Given the description of an element on the screen output the (x, y) to click on. 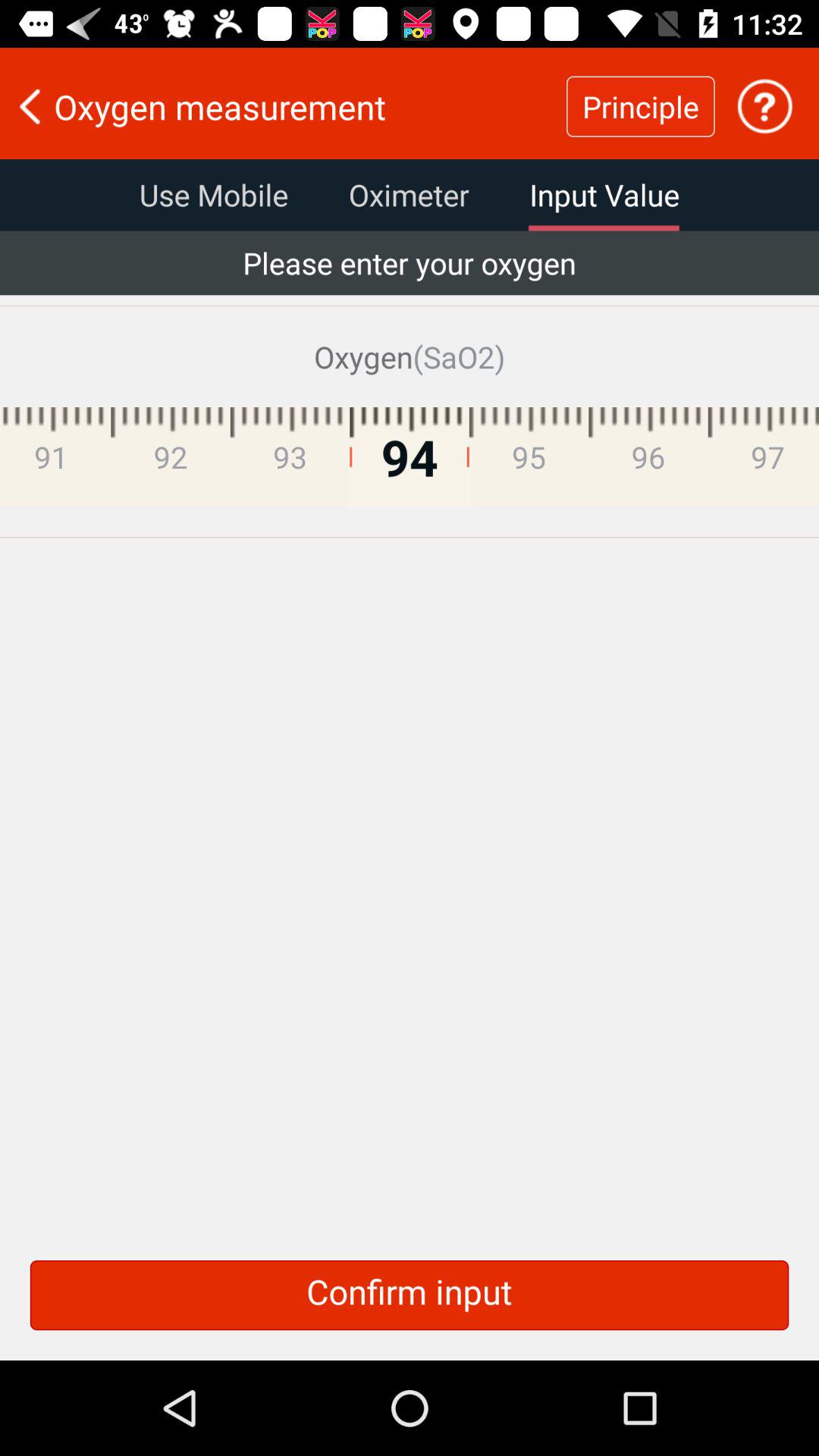
choose item to the left of input value icon (408, 194)
